Given the description of an element on the screen output the (x, y) to click on. 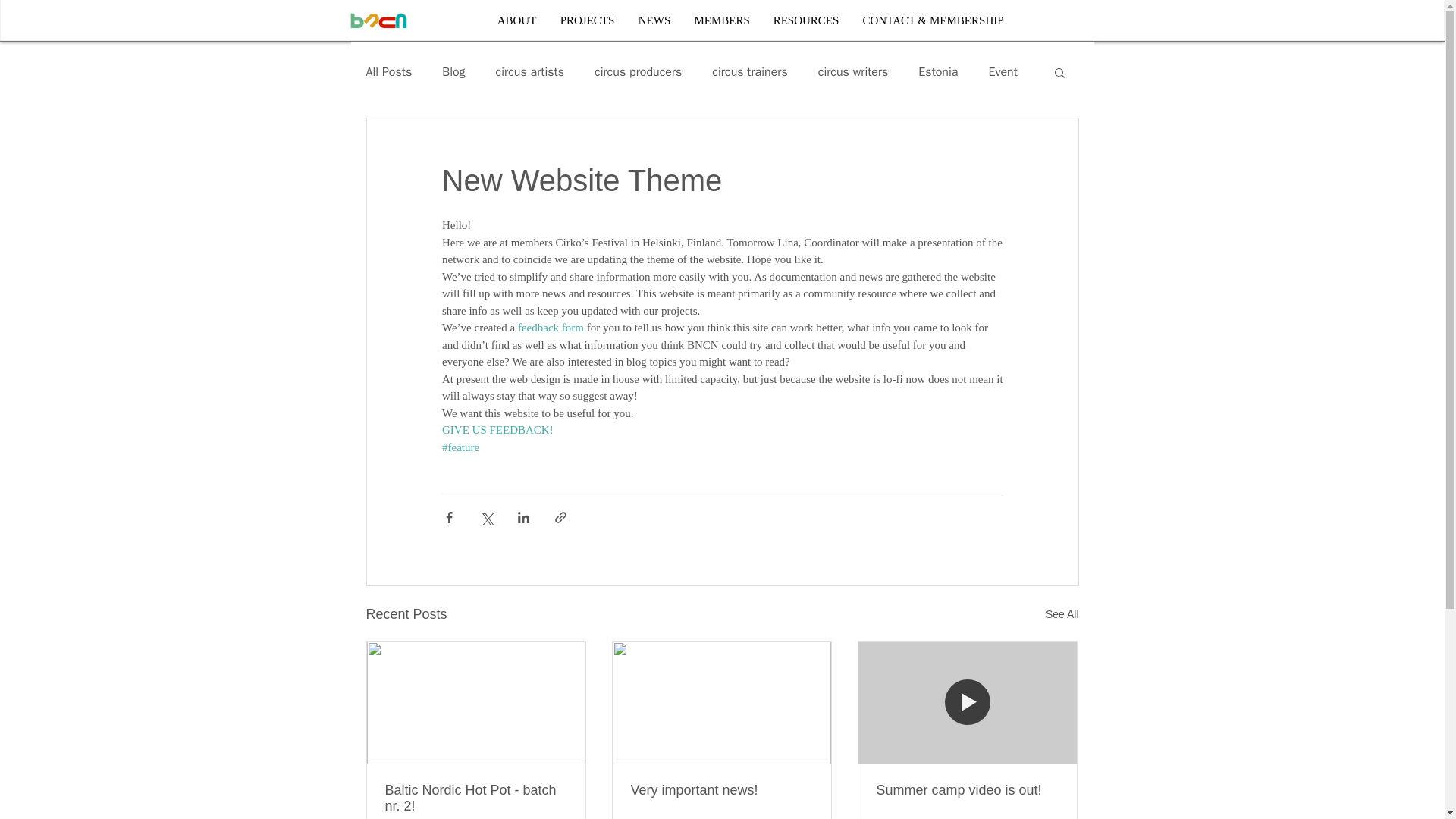
Blog (453, 71)
PROJECTS (587, 20)
RESOURCES (805, 20)
circus writers (853, 71)
All Posts (388, 71)
circus trainers (749, 71)
GIVE US FEEDBACK! (497, 429)
feedback form (549, 327)
MEMBERS (721, 20)
circus artists (530, 71)
Estonia (938, 71)
Event (1002, 71)
circus producers (637, 71)
ABOUT (515, 20)
NEWS (653, 20)
